Given the description of an element on the screen output the (x, y) to click on. 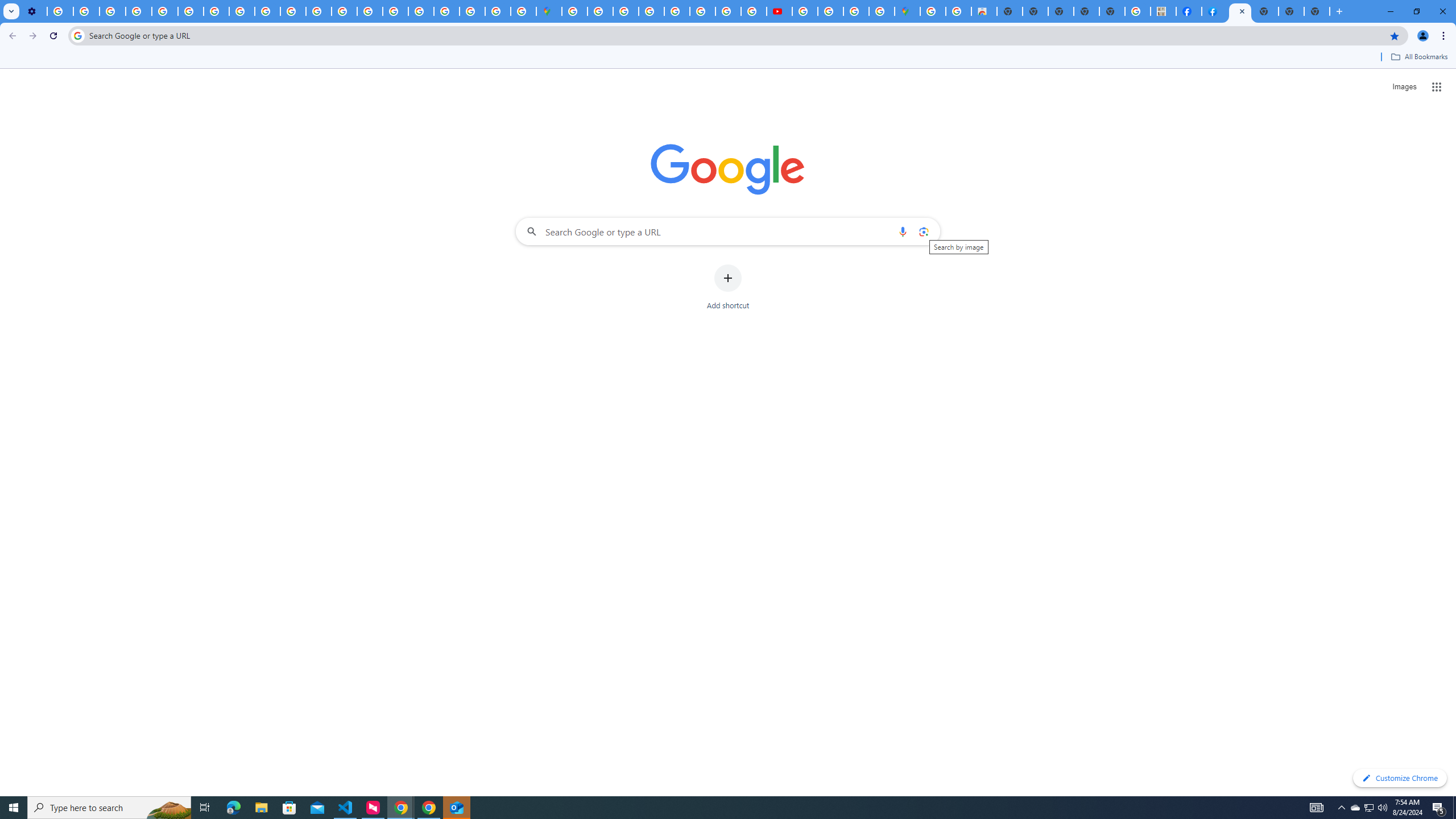
Google Maps (548, 11)
Settings - Customize profile (34, 11)
Privacy Help Center - Policies Help (702, 11)
How Chrome protects your passwords - Google Chrome Help (804, 11)
https://scholar.google.com/ (318, 11)
